Given the description of an element on the screen output the (x, y) to click on. 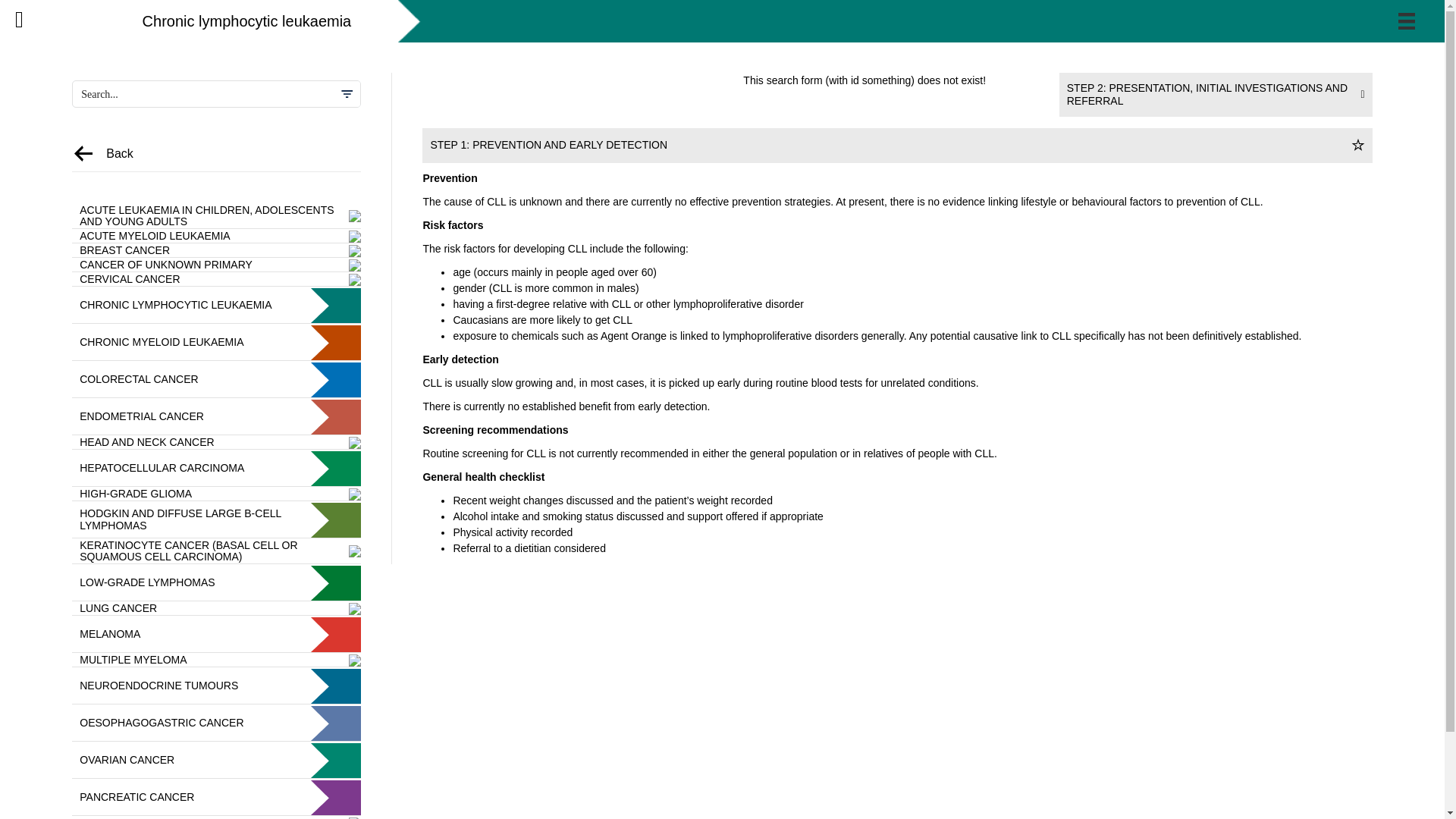
ACUTE LEUKAEMIA IN CHILDREN, ADOLESCENTS AND YOUNG ADULTS (216, 216)
LOW-GRADE LYMPHOMAS (216, 582)
COLORECTAL CANCER (216, 379)
HODGKIN AND DIFFUSE LARGE B-CELL LYMPHOMAS (216, 519)
LUNG CANCER (216, 608)
Back (119, 153)
HIGH-GRADE GLIOMA (216, 494)
HEPATOCELLULAR CARCINOMA (216, 468)
ACUTE MYELOID LEUKAEMIA (216, 236)
HEAD AND NECK CANCER (216, 442)
